Given the description of an element on the screen output the (x, y) to click on. 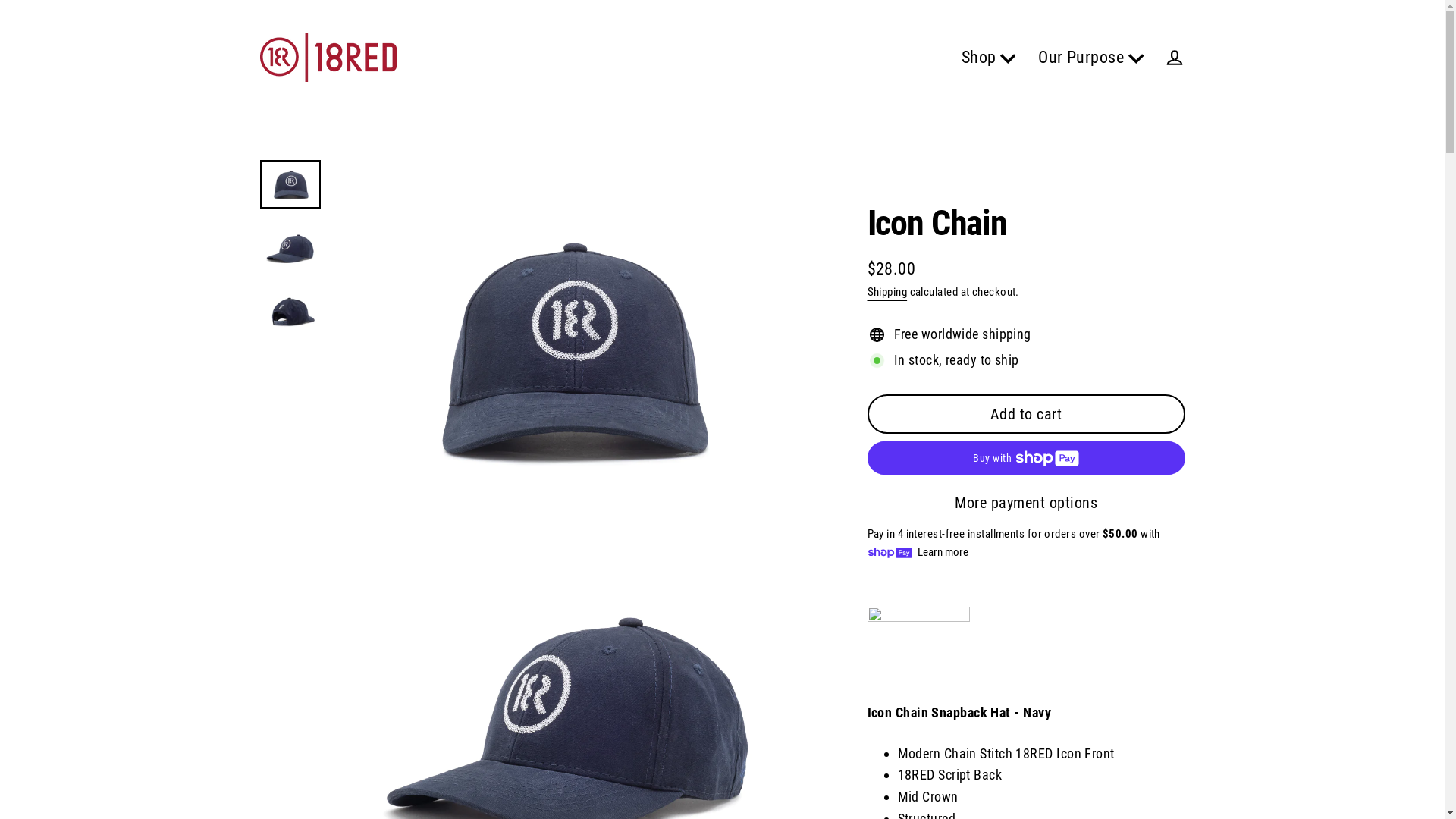
More payment options Element type: text (1026, 502)
Add to cart Element type: text (1026, 413)
Shipping Element type: text (887, 291)
Log in Element type: text (1173, 56)
